Given the description of an element on the screen output the (x, y) to click on. 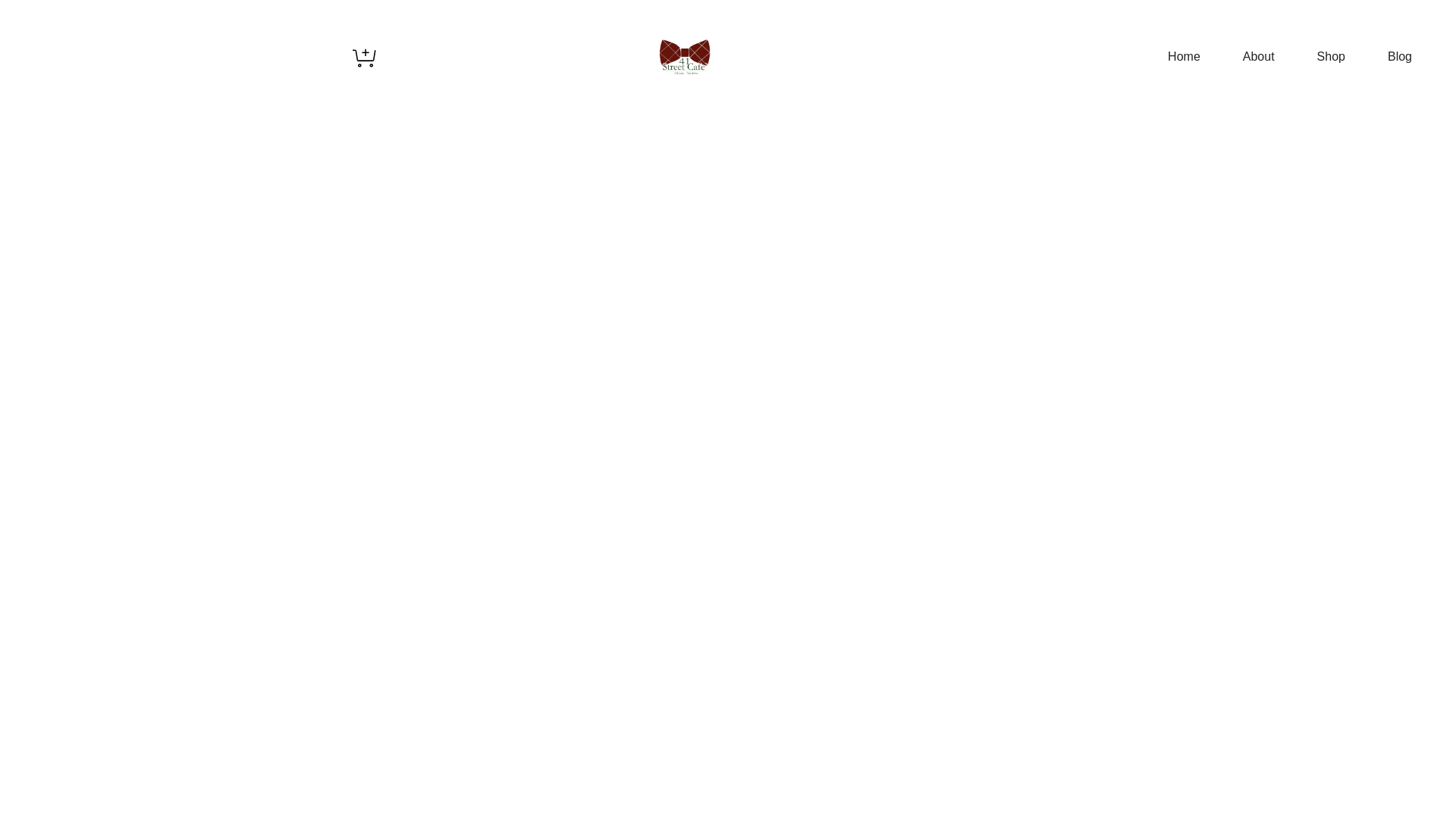
Shop Element type: text (1331, 56)
Blog Element type: text (1399, 56)
About Element type: text (1258, 56)
Home Element type: text (1183, 56)
